Given the description of an element on the screen output the (x, y) to click on. 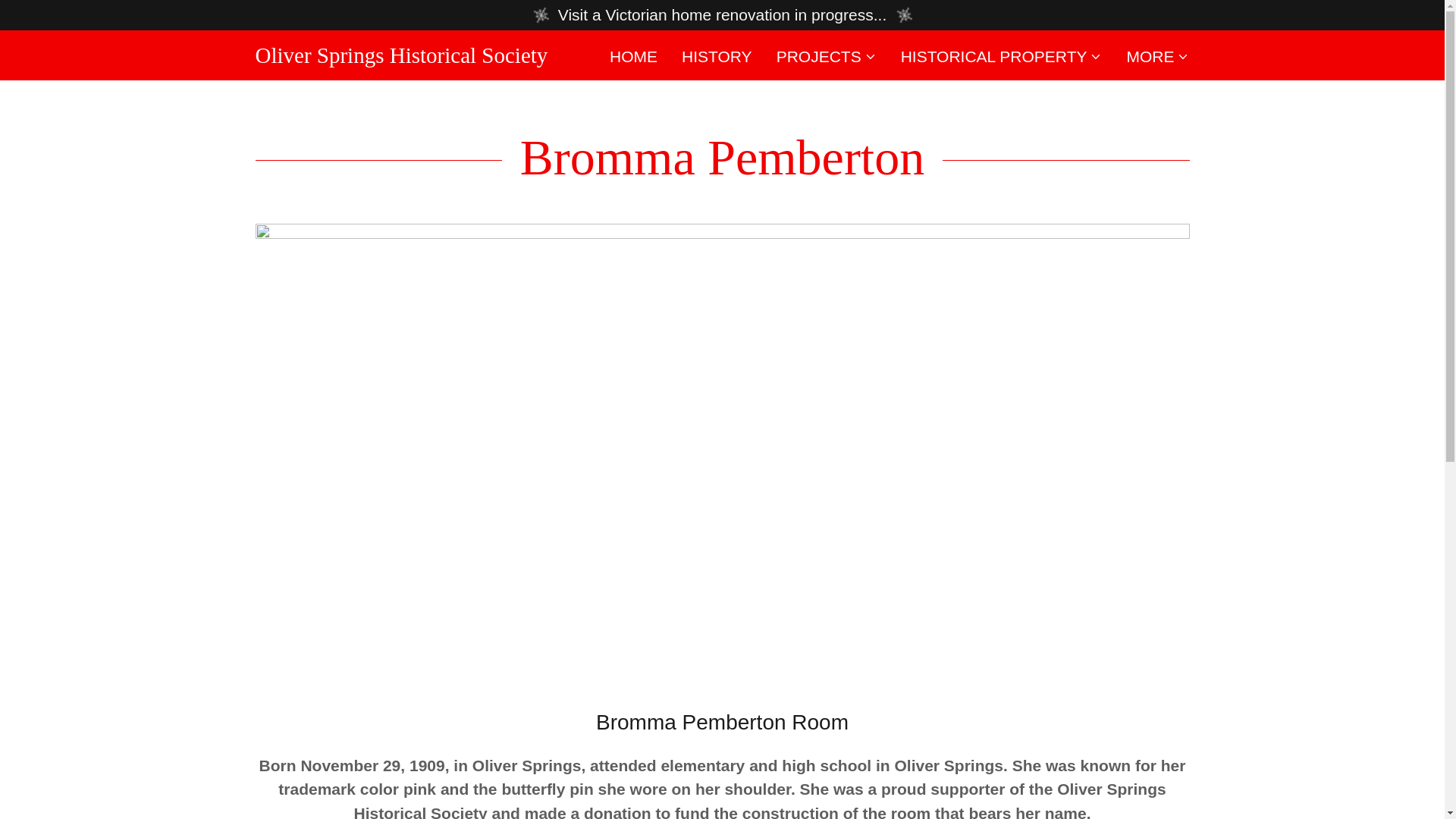
HISTORY (717, 56)
PROJECTS (826, 56)
HOME (633, 56)
Oliver Springs Historical Society (400, 57)
Oliver Springs Historical Society (400, 57)
HISTORICAL PROPERTY (1001, 56)
MORE (1157, 56)
